Given the description of an element on the screen output the (x, y) to click on. 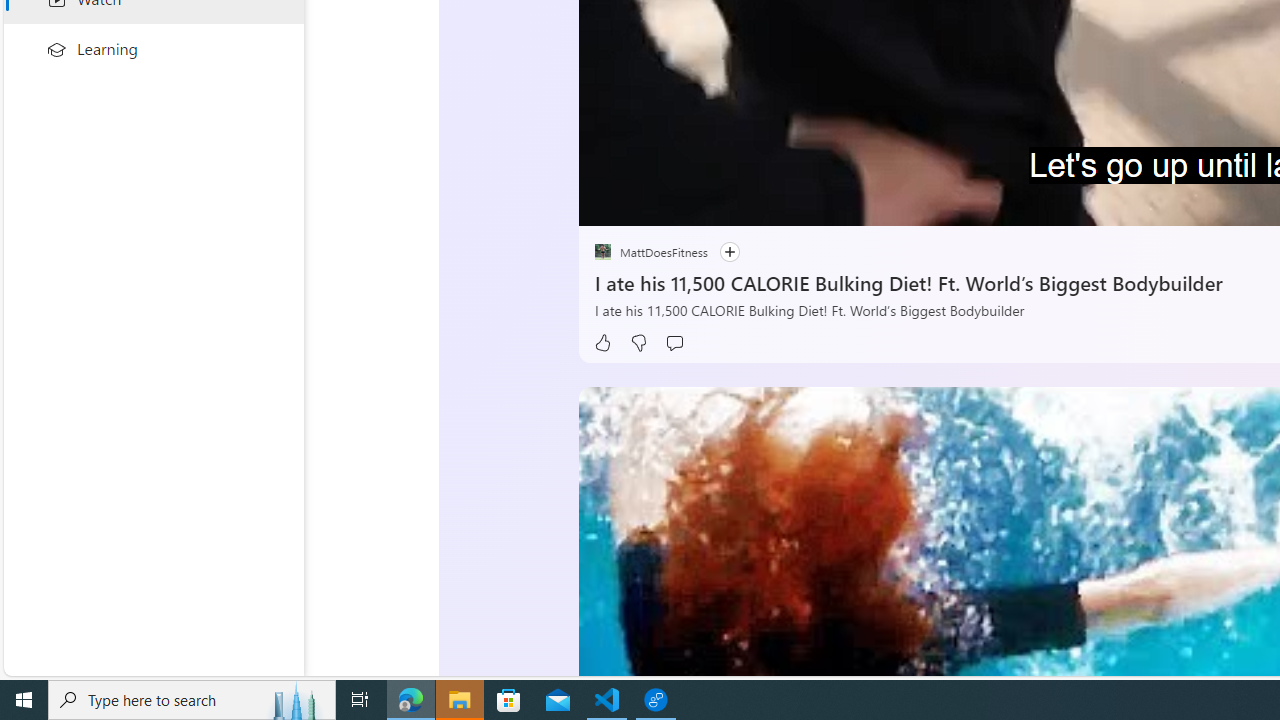
Follow (729, 251)
Pause (607, 203)
Like (601, 343)
Seek Forward (688, 203)
placeholder (601, 252)
Seek Back (648, 203)
